Given the description of an element on the screen output the (x, y) to click on. 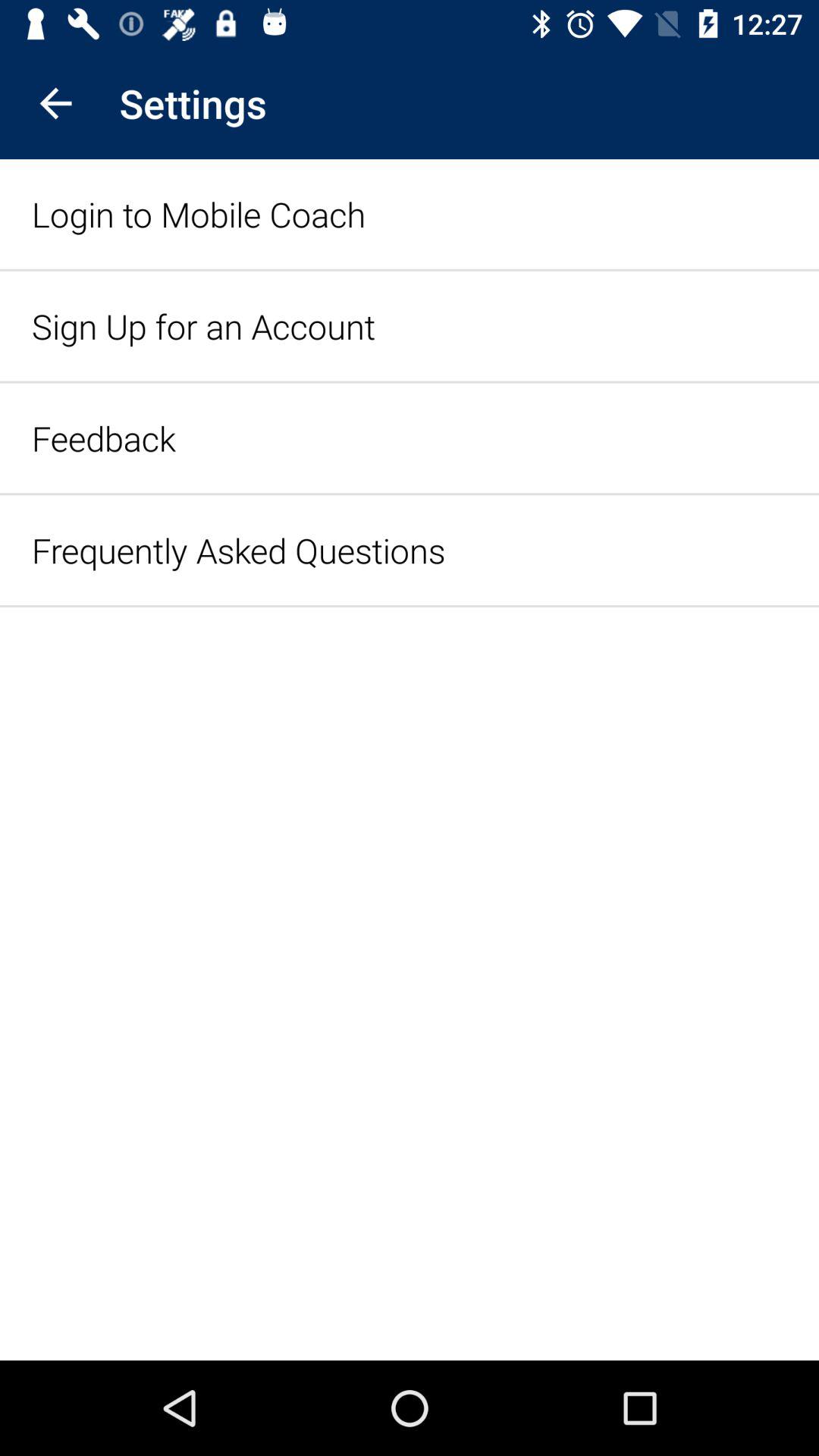
tap icon below the login to mobile item (203, 326)
